Given the description of an element on the screen output the (x, y) to click on. 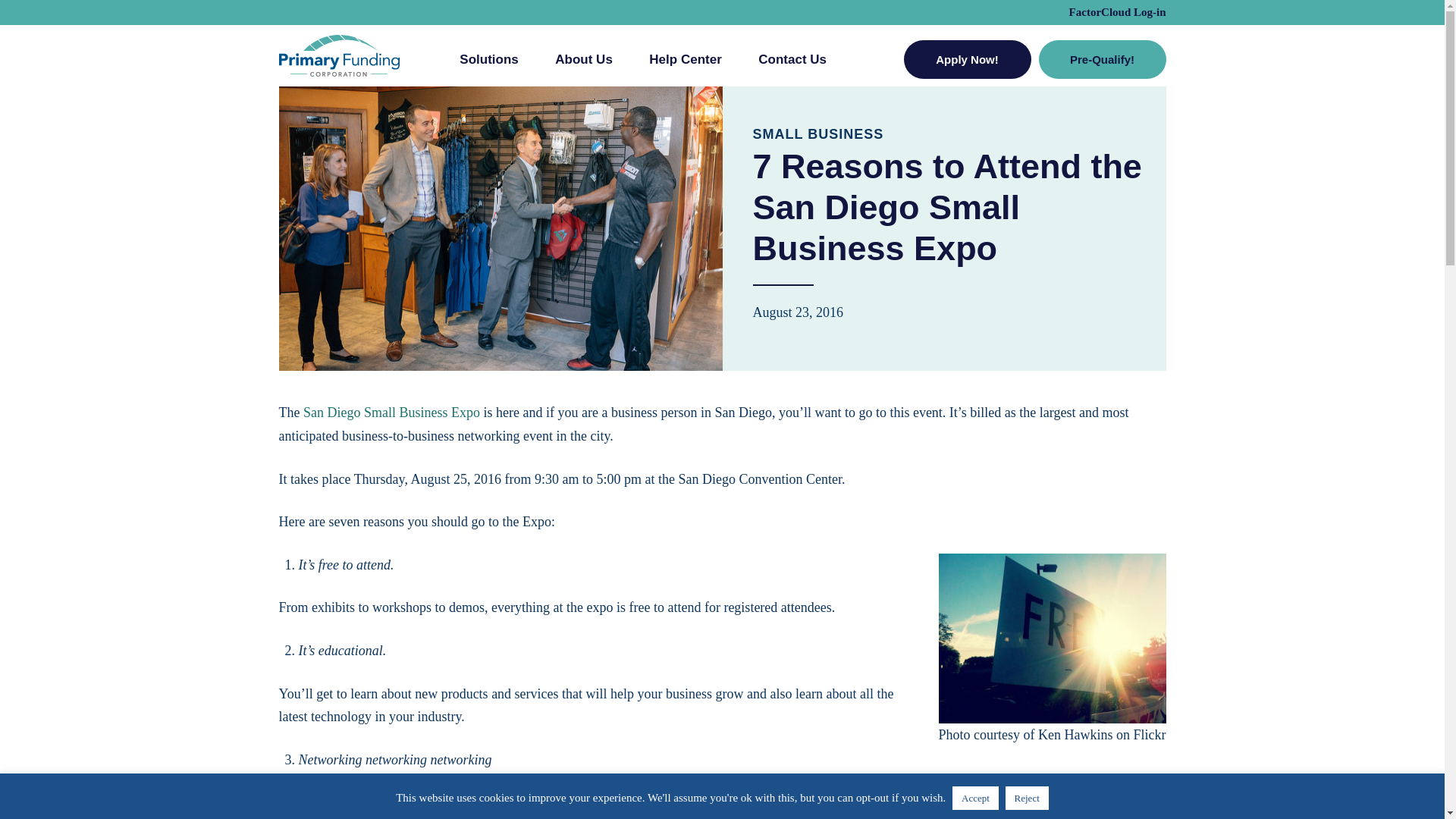
Contact Us (792, 65)
Primary Funding (338, 55)
Solutions (488, 65)
Help Center (684, 65)
Pre-Qualify! (1102, 58)
FactorCloud Log-in (1117, 11)
Apply Now! (967, 58)
San Diego Small Business Expo (391, 412)
About Us (583, 65)
